Given the description of an element on the screen output the (x, y) to click on. 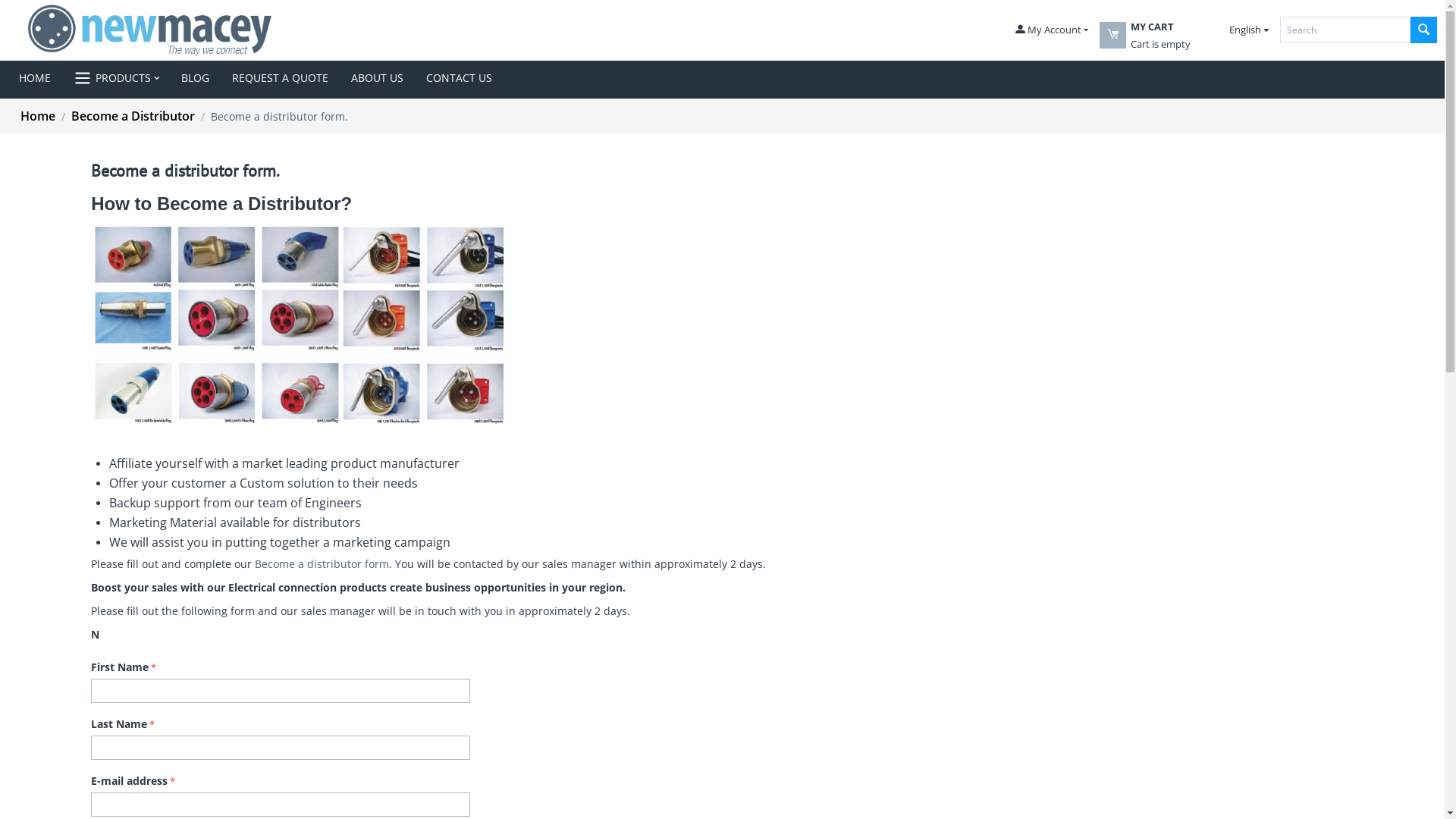
BLOG Element type: text (194, 77)
Search Element type: hover (1345, 29)
MY CART
Cart is empty Element type: text (1158, 43)
Product distribution Element type: hover (299, 324)
NewMacey Pty Ltd Element type: hover (149, 30)
HOME Element type: text (40, 77)
Become a Distributor Element type: text (132, 115)
REQUEST A QUOTE Element type: text (279, 77)
ABOUT US Element type: text (376, 77)
English Element type: text (1240, 30)
Search Element type: hover (1423, 29)
PRODUCTS Element type: text (115, 77)
NewMacey Pty Ltd Element type: hover (149, 29)
My Account Element type: text (1051, 29)
Home Element type: text (37, 115)
Become a distributor form Element type: text (321, 563)
CONTACT US Element type: text (458, 77)
